Given the description of an element on the screen output the (x, y) to click on. 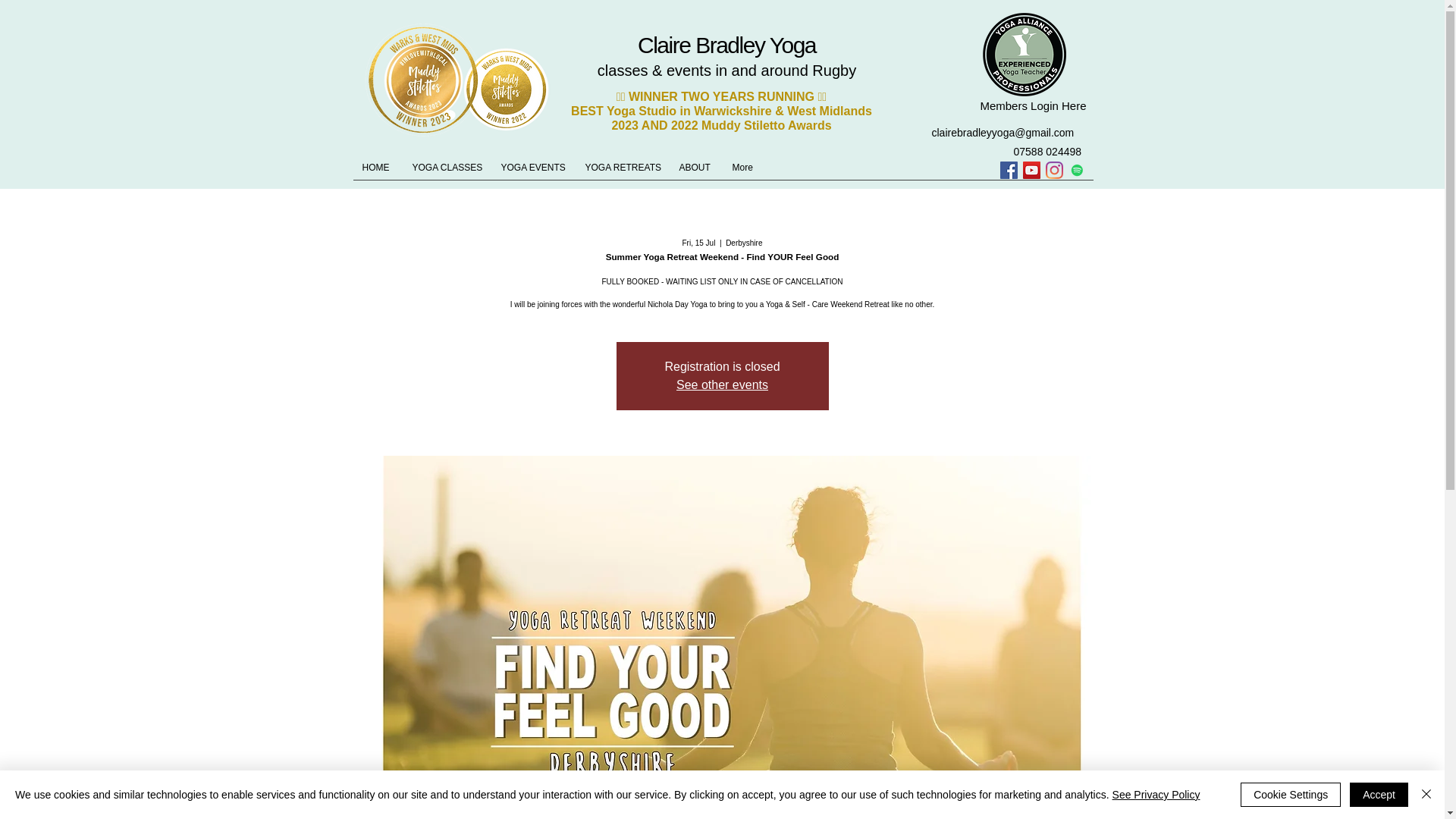
Claire Bradley Yoga (726, 44)
See other events (722, 384)
ABOUT (698, 167)
YOGA EVENTS (534, 167)
2023 AND 2022 Muddy Stiletto Awards (721, 124)
YOGA RETREATS (624, 167)
HOME (379, 167)
YOGA CLASSES (448, 167)
Members Login Here (1032, 104)
07588 024498 (1047, 151)
